Given the description of an element on the screen output the (x, y) to click on. 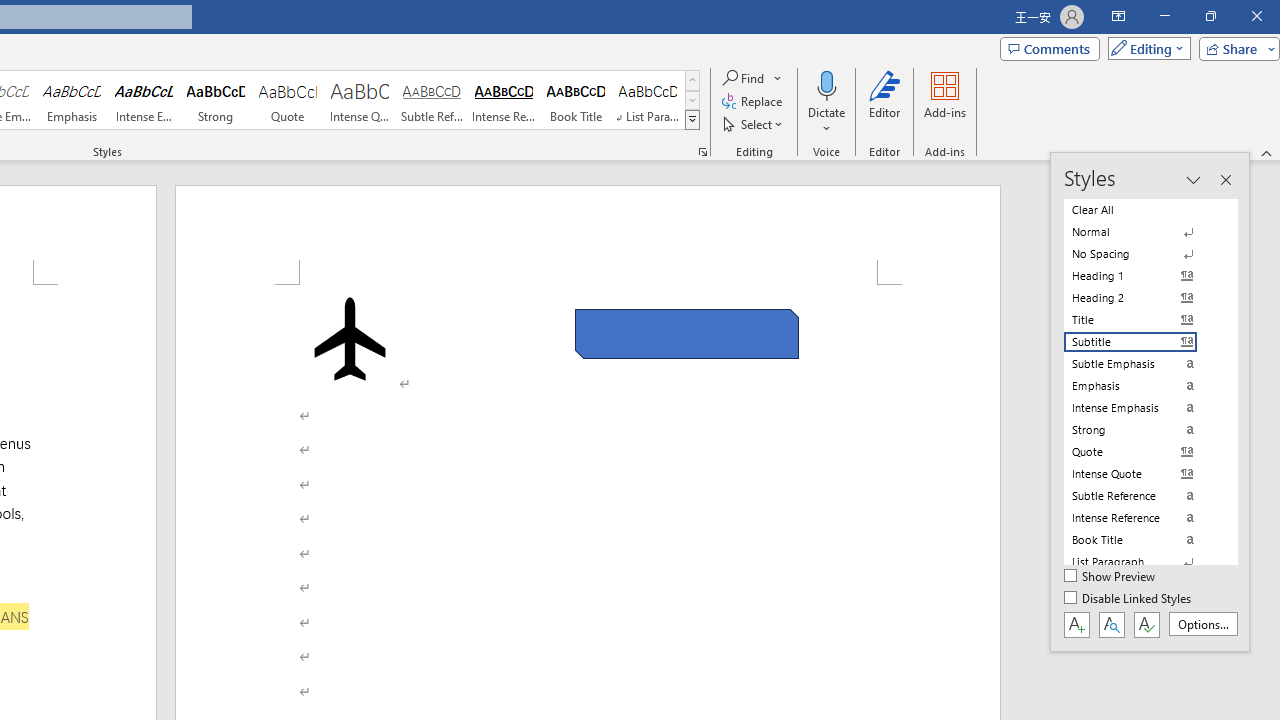
Intense Emphasis (143, 100)
Clear All (1142, 209)
Class: NetUIButton (1146, 624)
